Given the description of an element on the screen output the (x, y) to click on. 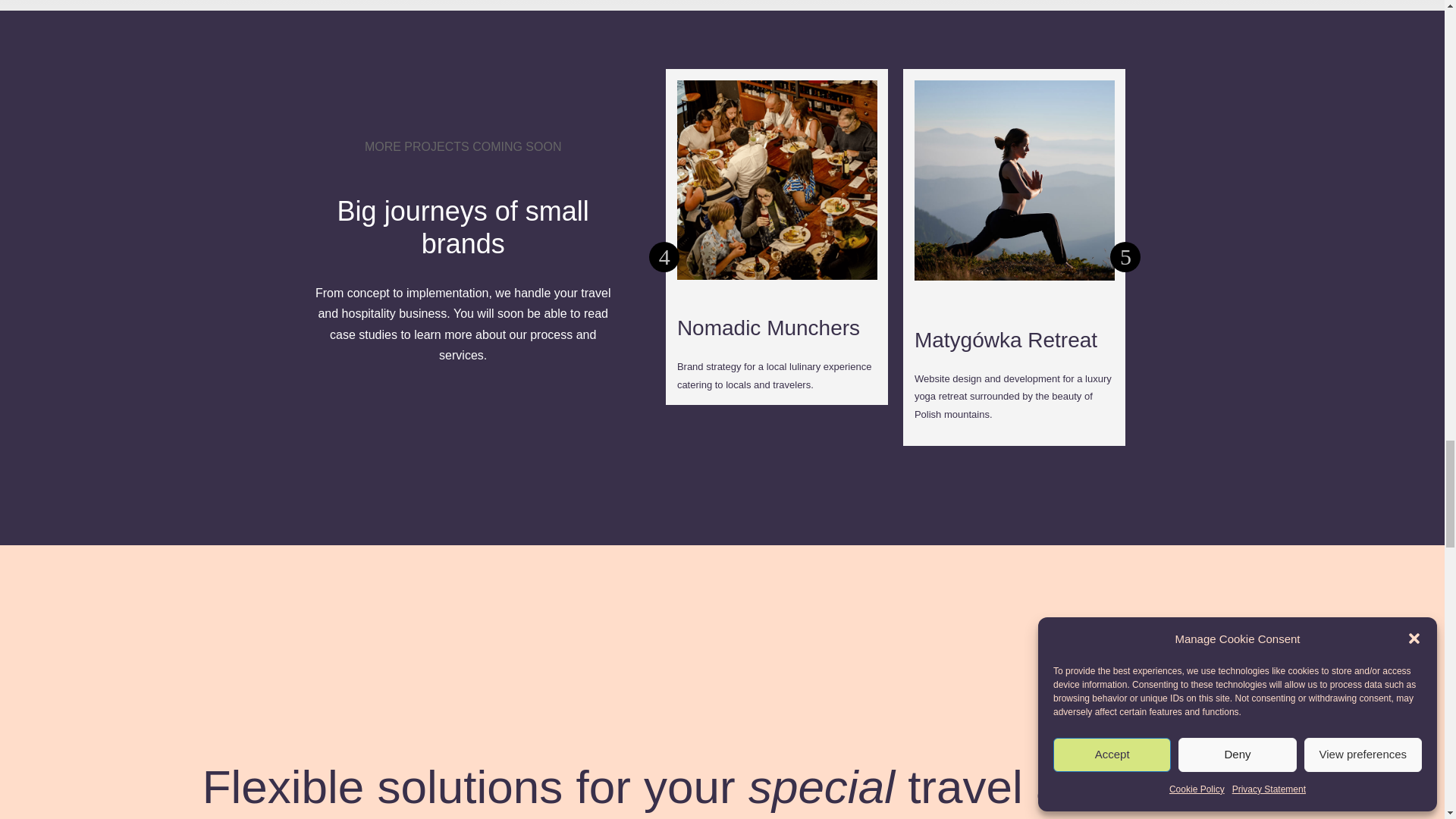
Prev (1124, 256)
Prev (664, 256)
